Given the description of an element on the screen output the (x, y) to click on. 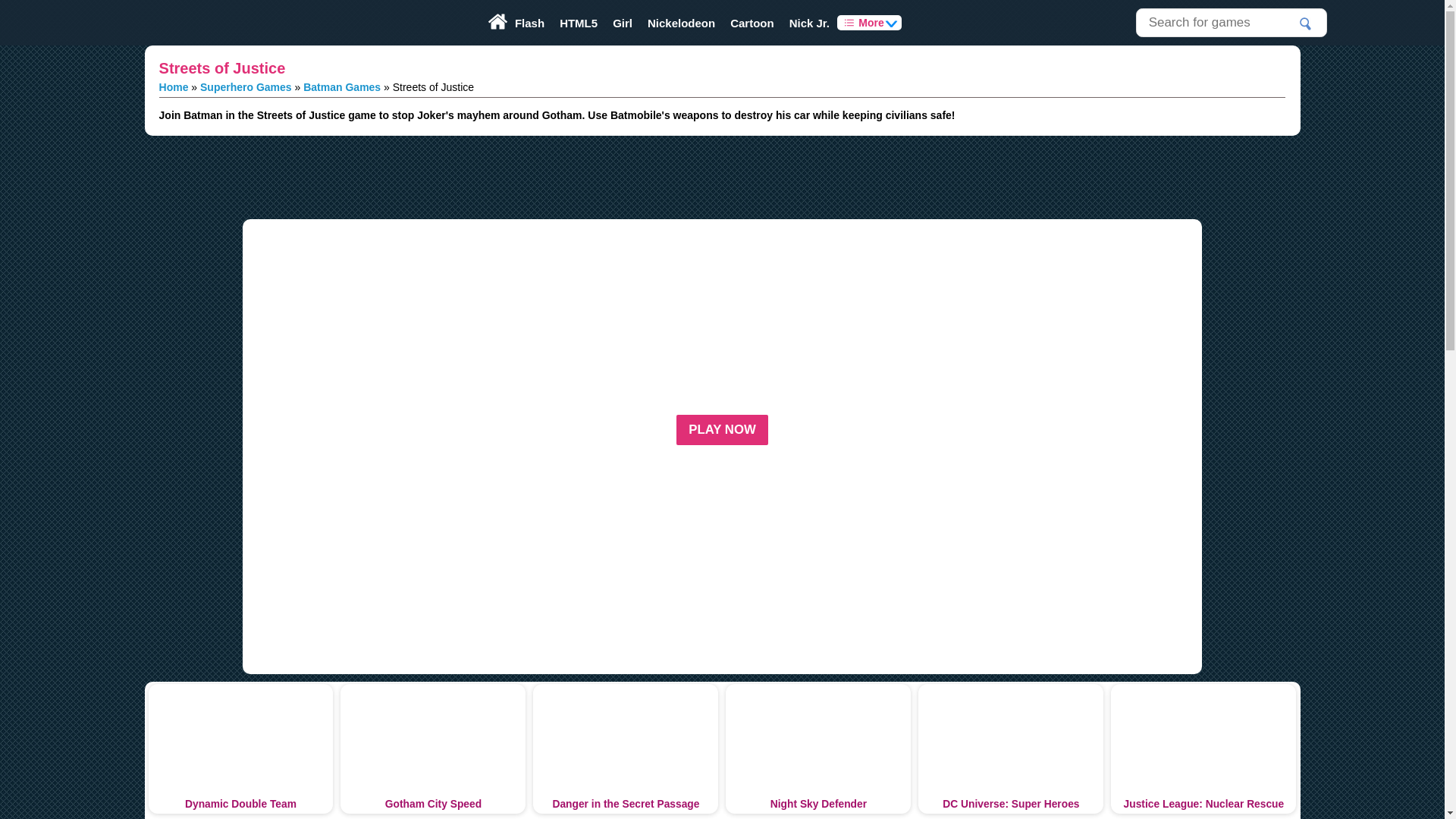
Flash Games (528, 22)
Nick Jr. (809, 22)
More (869, 22)
Play Fun Browser Games (185, 22)
Superhero Games (246, 87)
Girl (622, 22)
HTML5 Games (578, 22)
Flash (528, 22)
Home (173, 87)
Cartoon (751, 22)
